Given the description of an element on the screen output the (x, y) to click on. 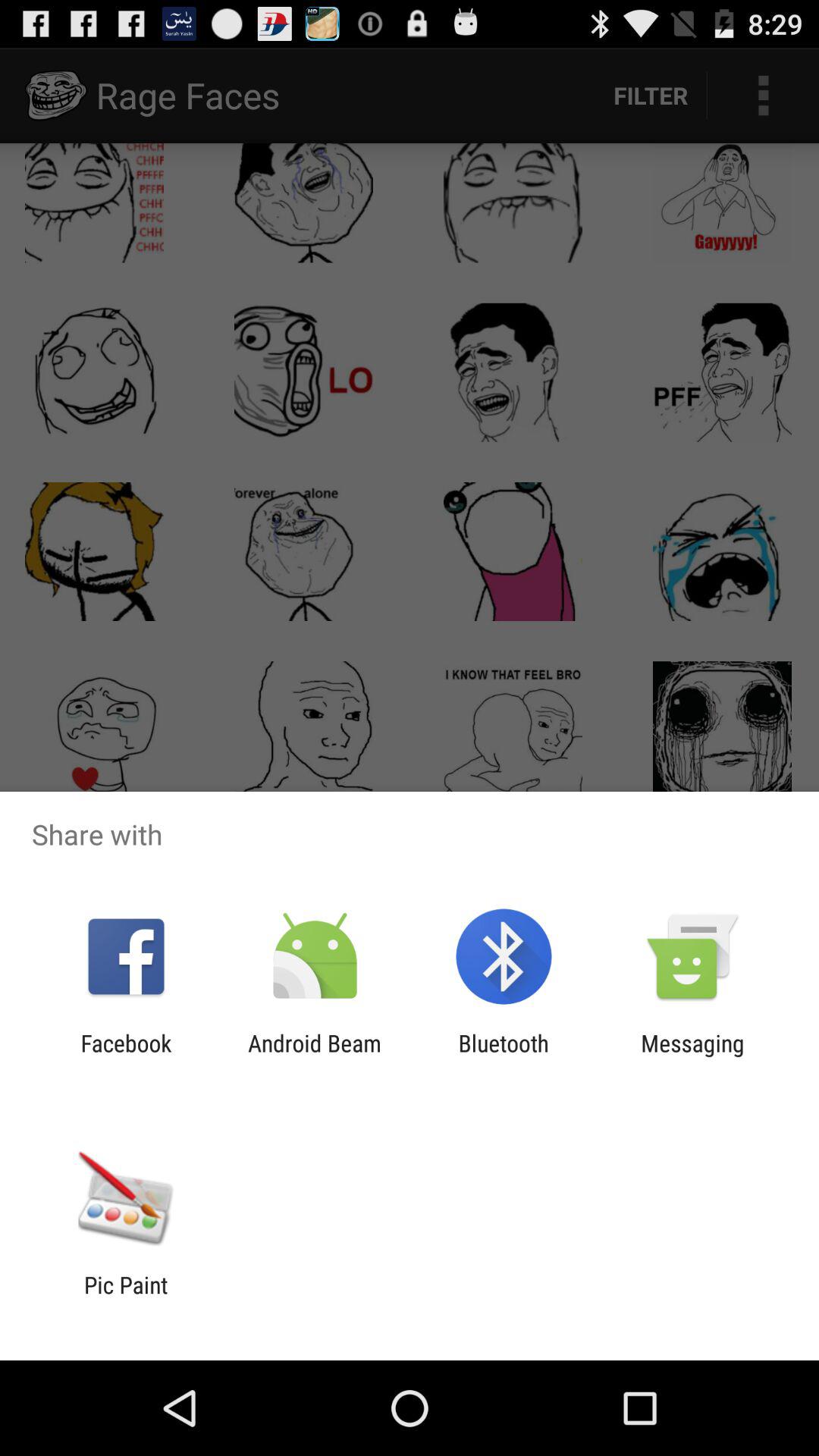
click the item next to android beam item (503, 1056)
